Given the description of an element on the screen output the (x, y) to click on. 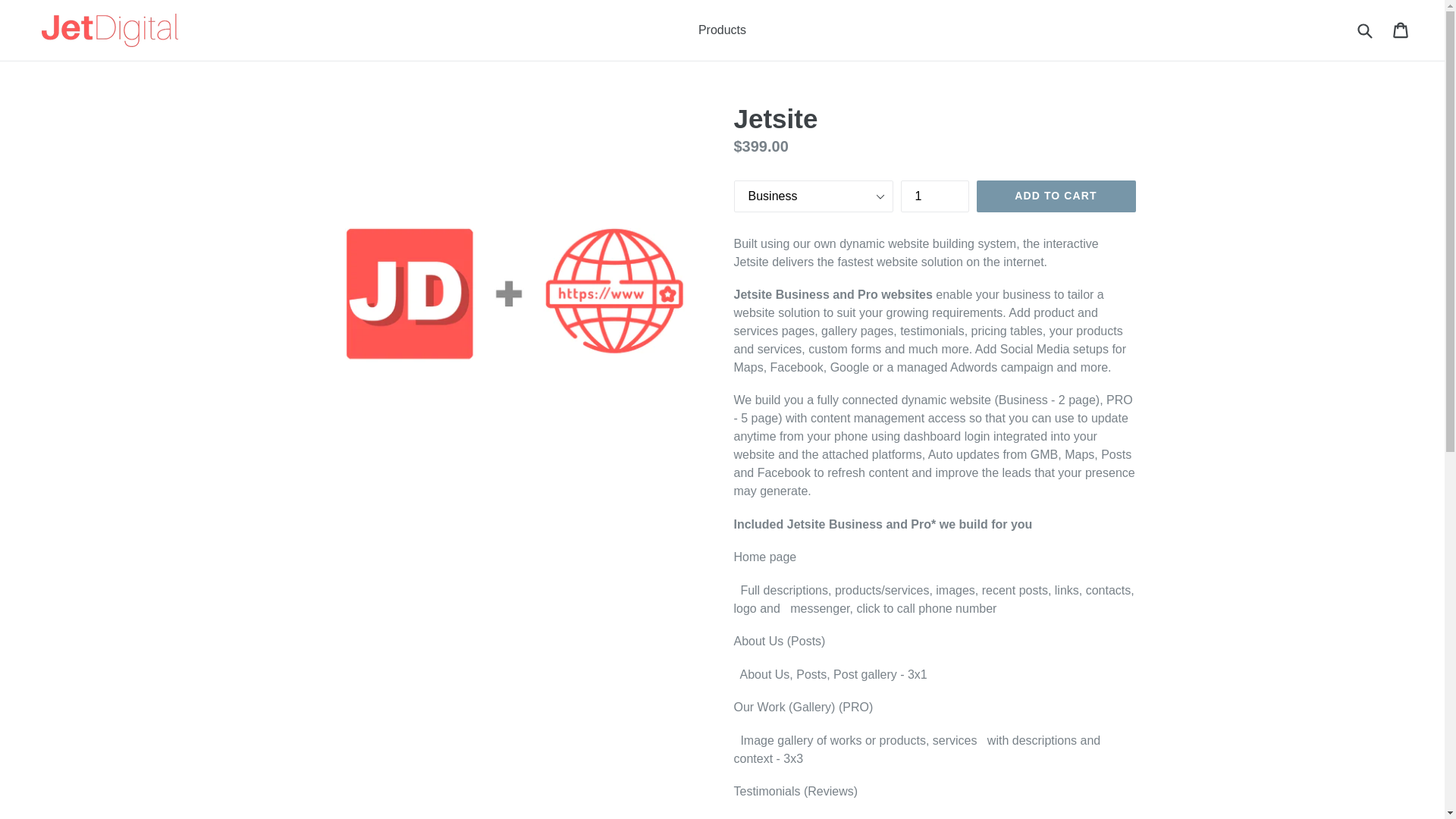
ADD TO CART Element type: text (1055, 196)
Products Element type: text (721, 29)
Cart
Cart Element type: text (1401, 29)
Submit Element type: text (1363, 29)
